Given the description of an element on the screen output the (x, y) to click on. 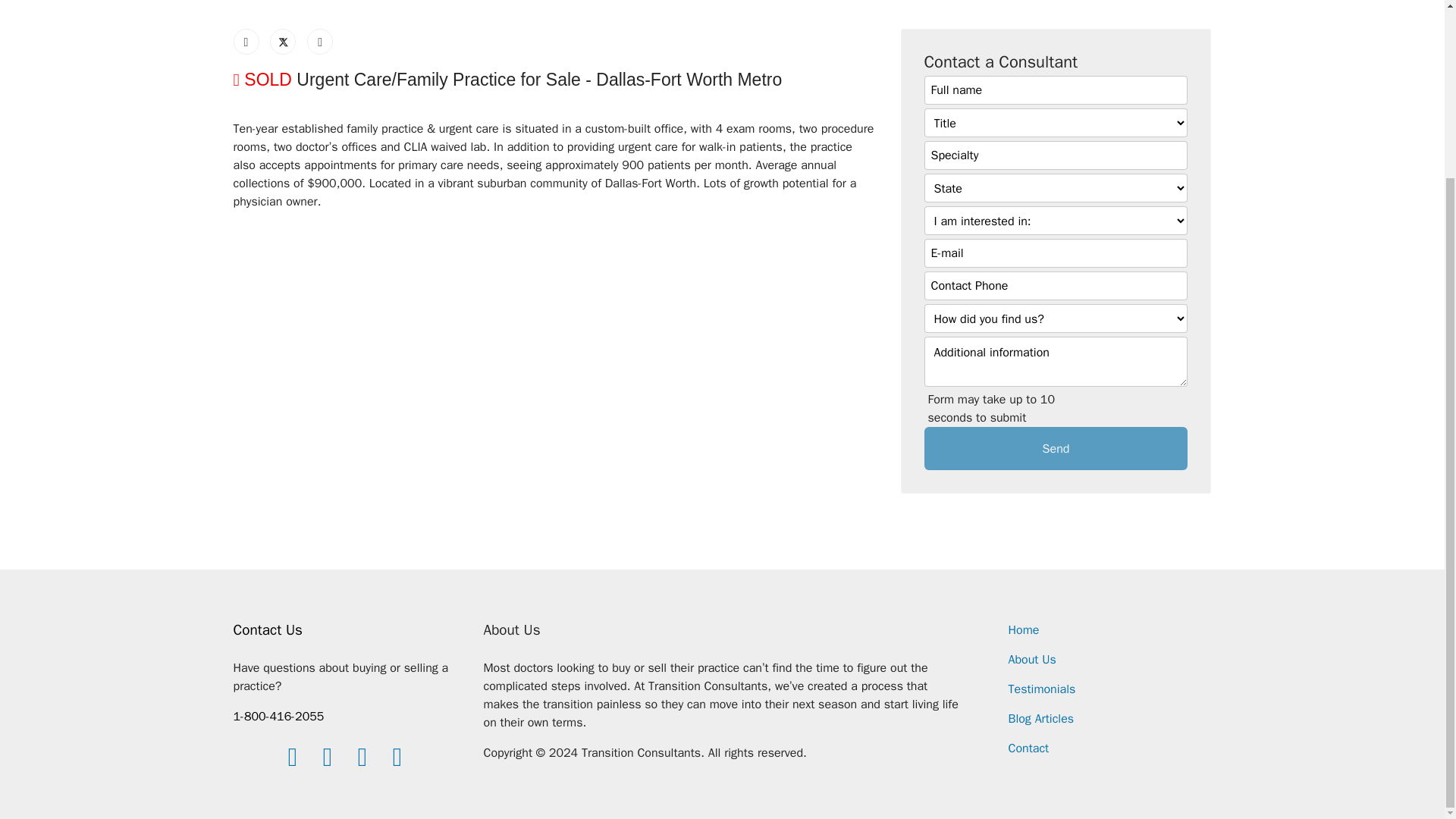
Facebook (245, 41)
LinkedIn (320, 41)
Blog Articles (1041, 718)
Testimonials (1042, 688)
Contact (1029, 748)
1-800-416-2055 (278, 716)
Send (1055, 448)
Home (1024, 630)
Contact Us (267, 629)
About Us (1033, 659)
